Given the description of an element on the screen output the (x, y) to click on. 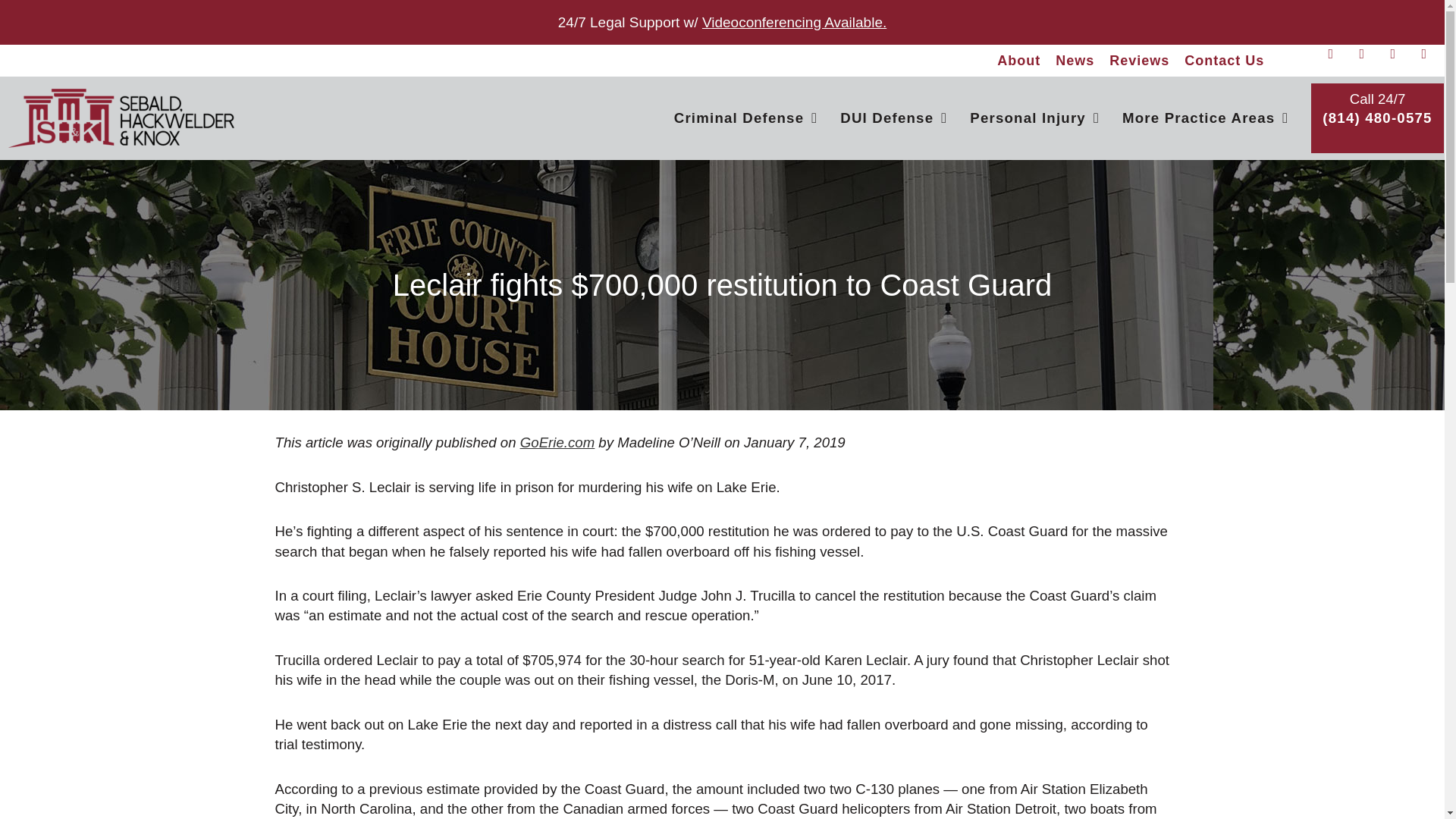
Criminal Defense (745, 118)
Contact Us (1223, 60)
Twitter (1368, 60)
News (1075, 60)
Map-marker-alt (1399, 60)
Facebook-f (1337, 60)
Videoconferencing Available. (793, 22)
About (1019, 60)
Reviews (1139, 60)
